Given the description of an element on the screen output the (x, y) to click on. 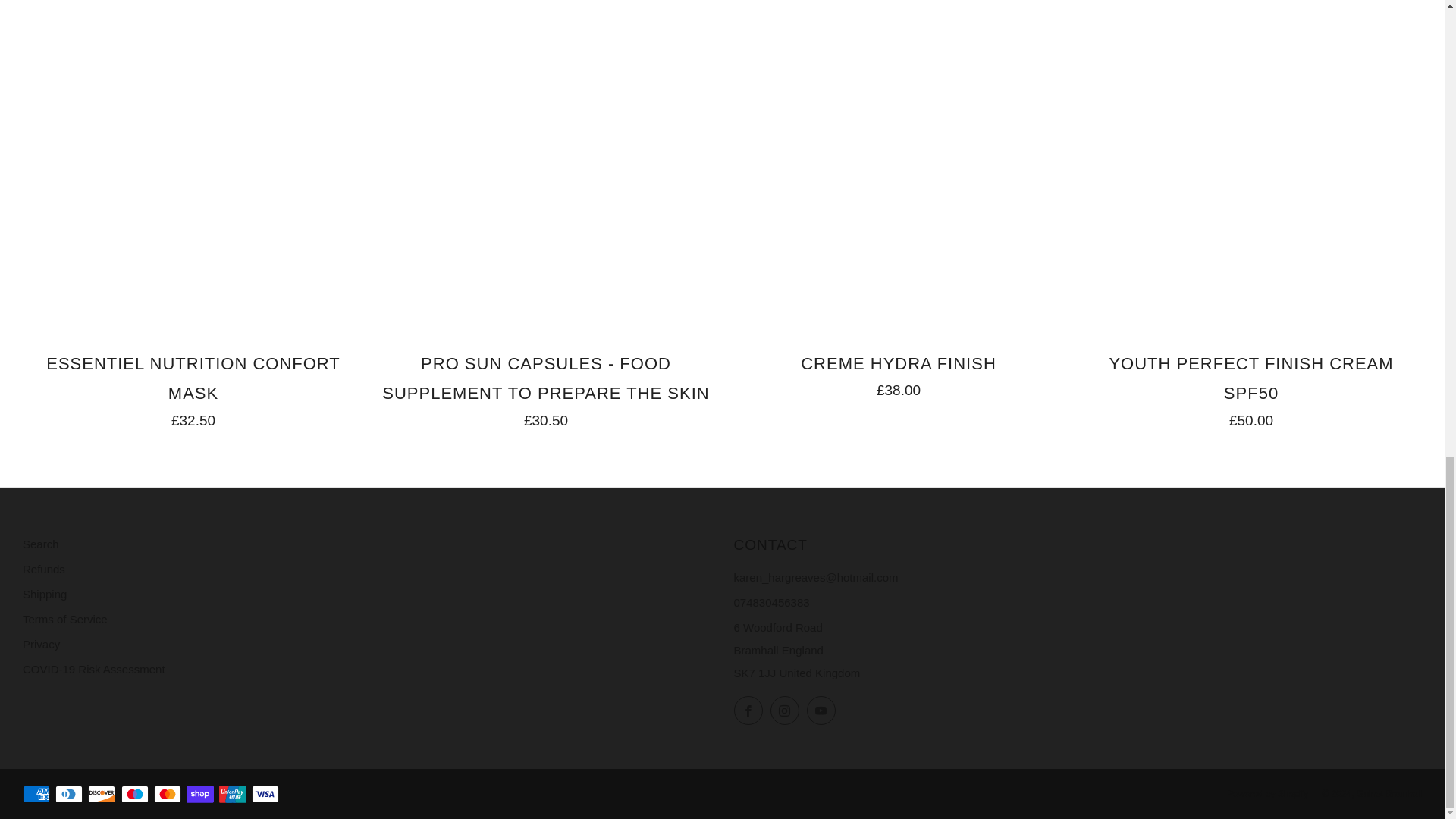
Essentiel Nutrition Confort Mask (193, 387)
Creme Hydra Finish (898, 373)
Pro Sun Capsules - Food Supplement to prepare the skin (545, 387)
Youth Perfect Finish Cream SPF50 (1251, 387)
